Given the description of an element on the screen output the (x, y) to click on. 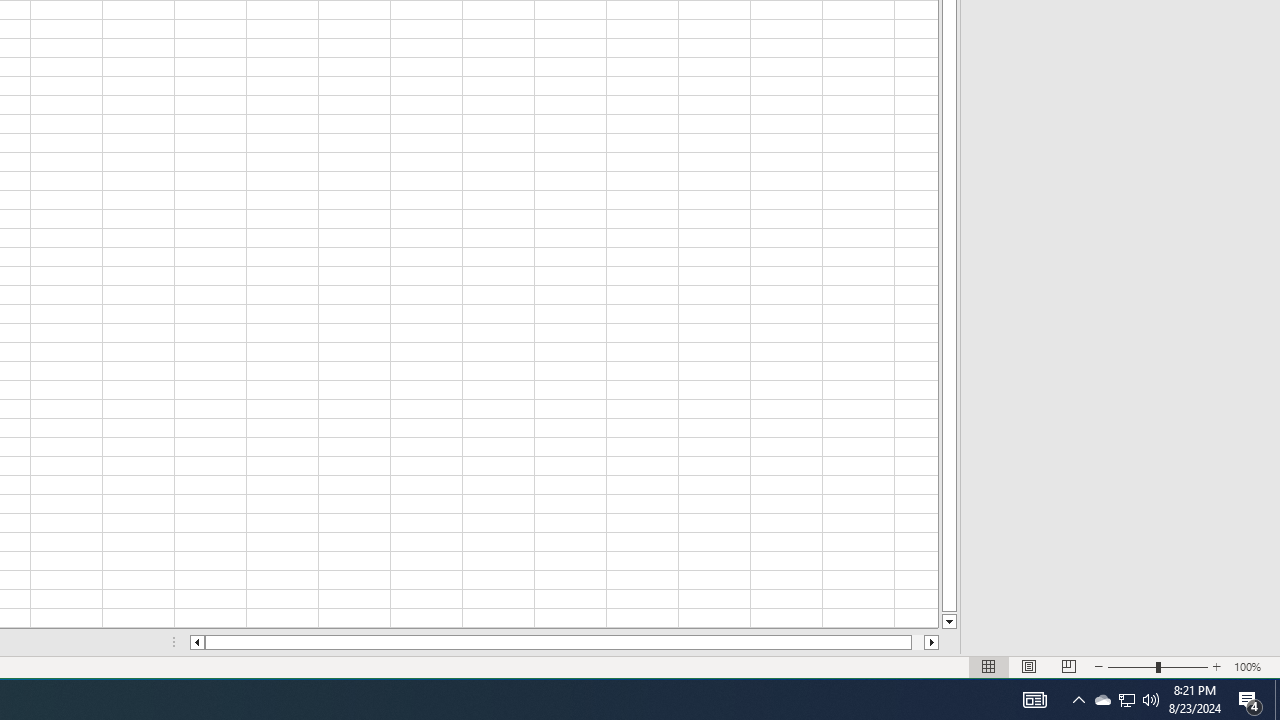
Page Break Preview (1069, 667)
Q2790: 100% (1151, 699)
Action Center, 4 new notifications (1250, 699)
Zoom (1158, 667)
